Given the description of an element on the screen output the (x, y) to click on. 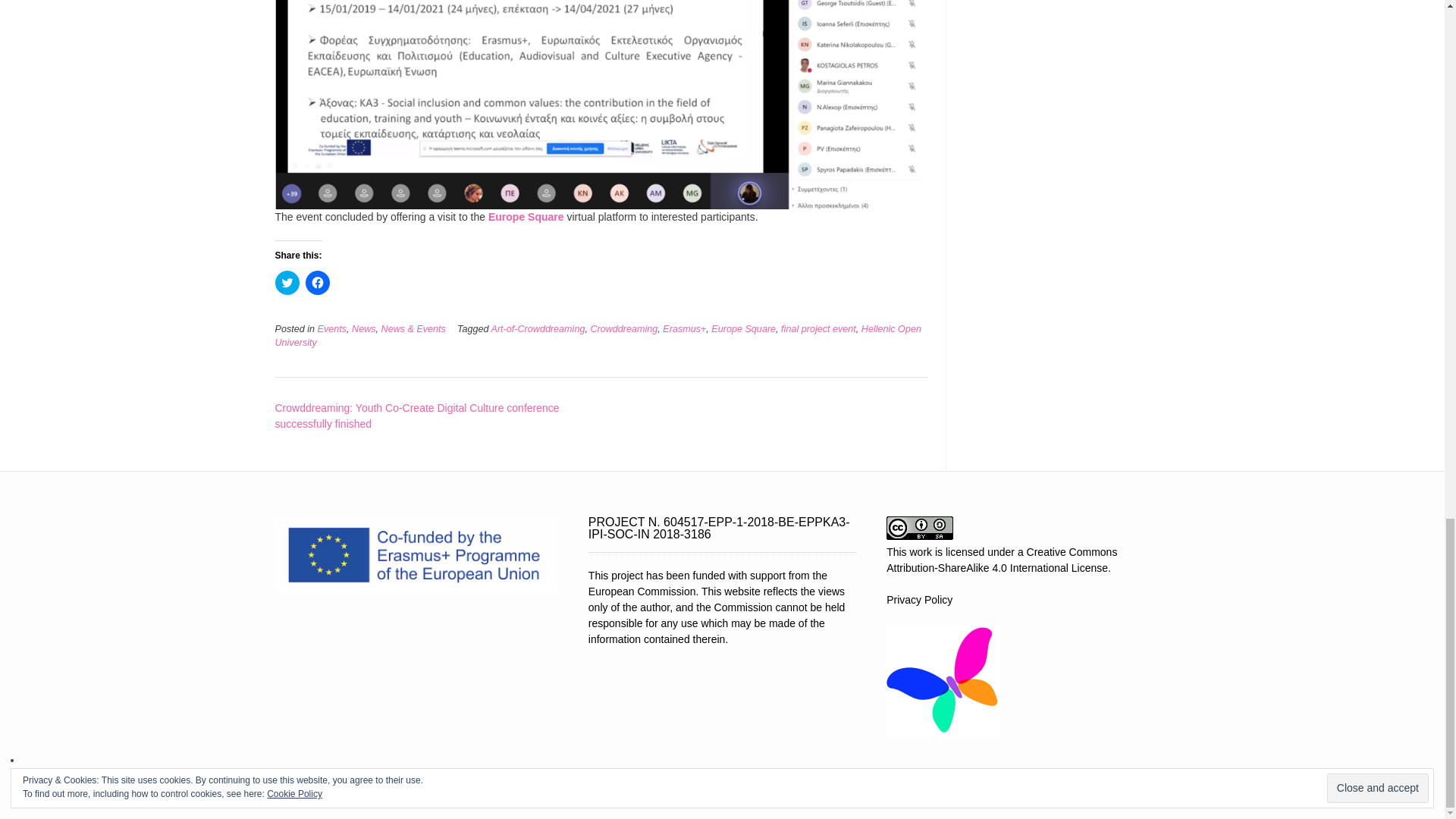
Click to share on Facebook (316, 282)
News (363, 328)
Crowddreaming (623, 328)
Art-of-Crowddreaming (538, 328)
Events (332, 328)
Europe Square (743, 328)
Europe Square (525, 216)
Hellenic Open University (597, 335)
Click to share on Twitter (286, 282)
